Given the description of an element on the screen output the (x, y) to click on. 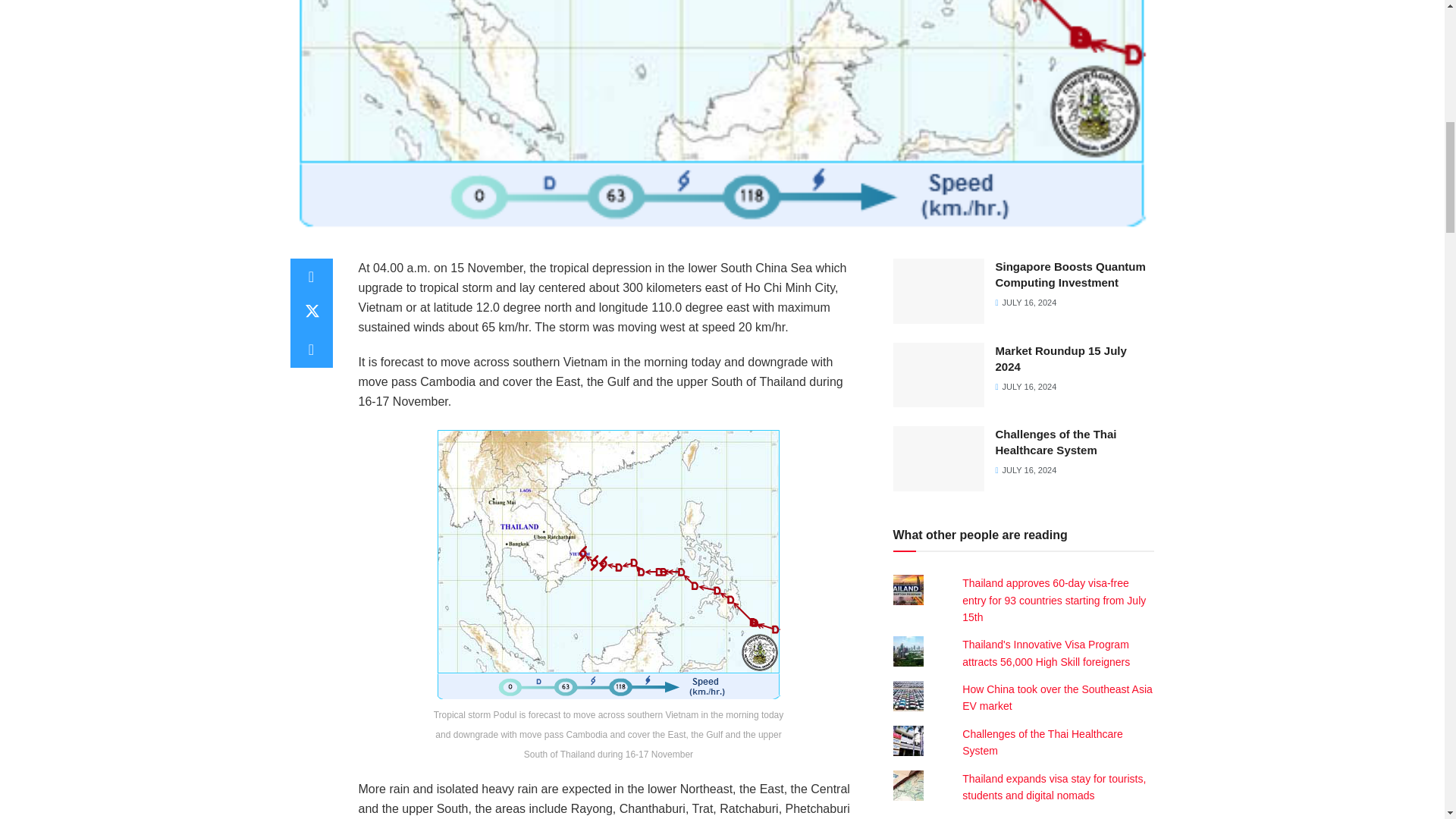
Tropical storm Podul (608, 564)
How China took over the Southeast Asia EV market (1057, 697)
